Given the description of an element on the screen output the (x, y) to click on. 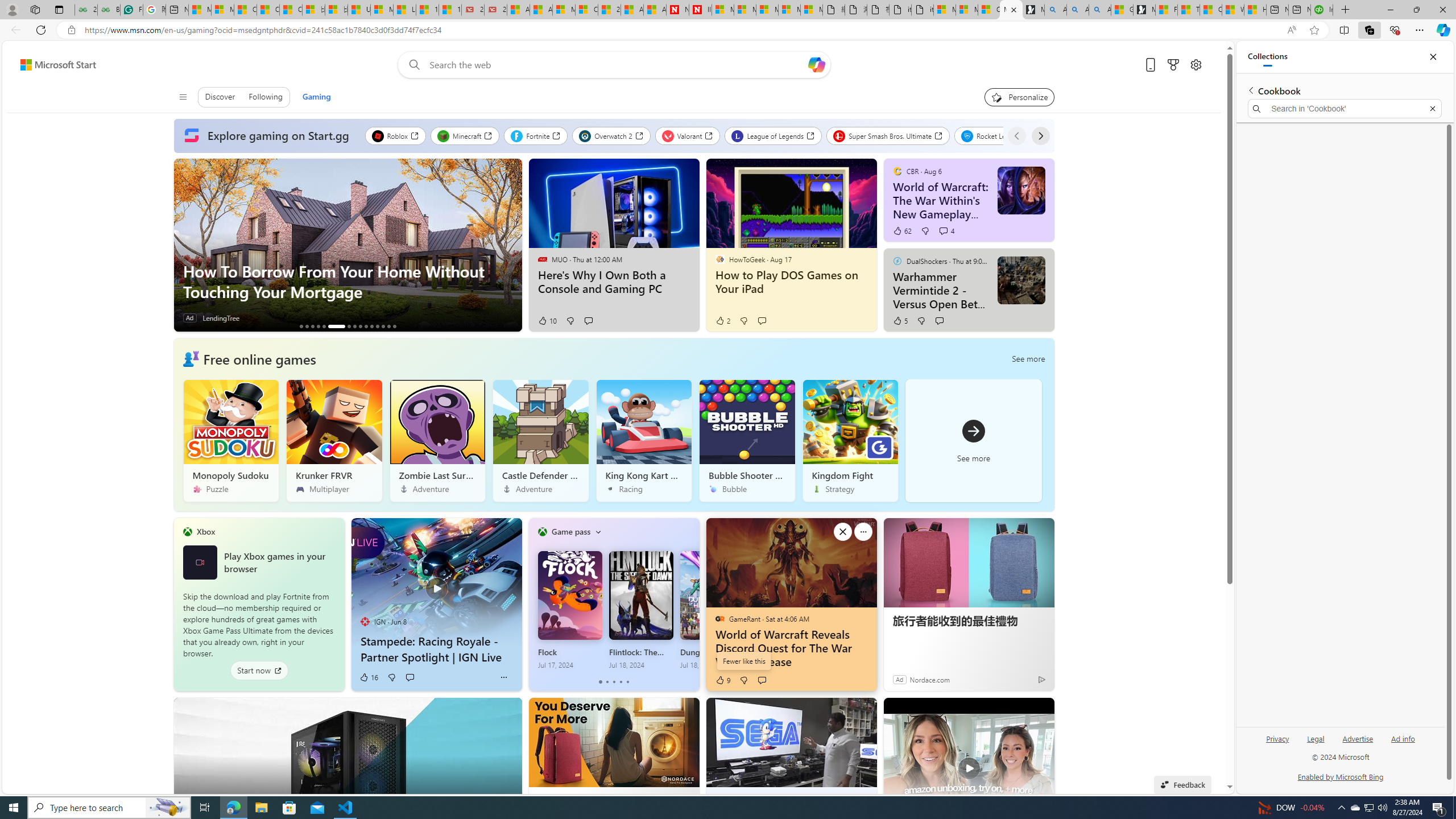
Free AI Writing Assistance for Students | Grammarly (131, 9)
tab-3 (620, 682)
King Kong Kart Racing (643, 440)
tab-4 (627, 682)
Xbox Logo (199, 562)
Previous (1016, 135)
DualShockers (897, 260)
Stampede: Racing Royale - Partner Spotlight | IGN Live (436, 582)
20 Ways to Boost Your Protein Intake at Every Meal (609, 9)
tab-0 (600, 682)
